Given the description of an element on the screen output the (x, y) to click on. 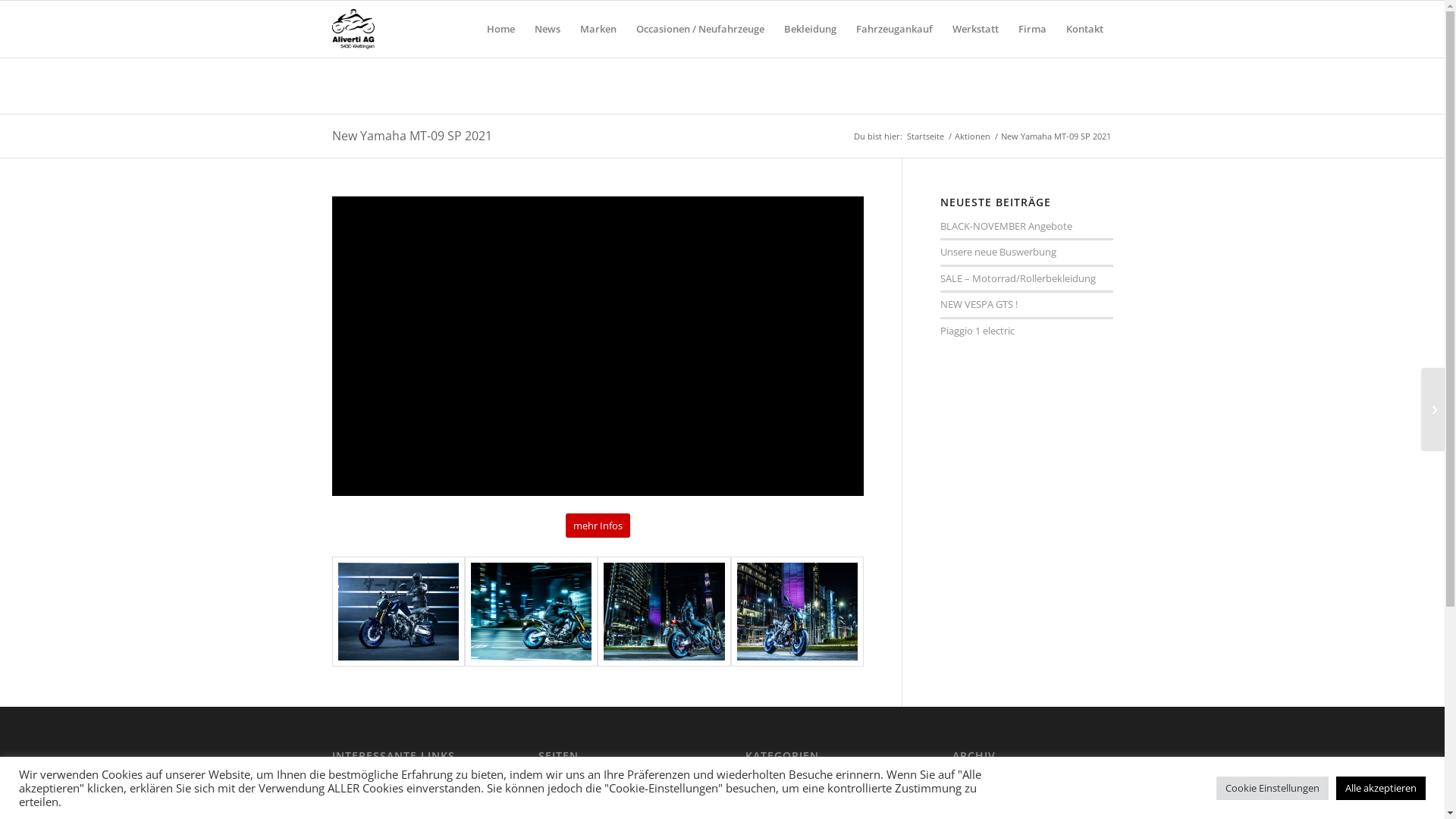
mehr Infos Element type: text (597, 525)
Bekleidung Element type: text (563, 774)
MT-09 SP 2021 (4) Element type: hover (797, 611)
Marken Element type: text (598, 28)
Fahrzeugankauf Element type: text (894, 28)
Oktober 2022 Element type: text (982, 807)
Occasionen / Neufahrzeuge Element type: text (700, 28)
Allgemein Element type: text (767, 791)
News Element type: text (547, 28)
BLACK-NOVEMBER Angebote Element type: text (1006, 225)
Cookie Einstellungen Element type: text (1272, 788)
NEW VESPA GTS ! Element type: text (978, 303)
Home Element type: text (500, 28)
Fahrzeugankauf Element type: text (574, 791)
New Yamaha MT-09 SP 2021 Element type: text (412, 135)
Dezember 2022 Element type: text (987, 791)
News Element type: text (757, 807)
November 2023 Element type: text (988, 774)
Kontakt Element type: text (1083, 28)
MT-09 SP 2021 (5) Element type: hover (398, 611)
Firma Element type: text (1032, 28)
MT-09 SP 2021 (1) Element type: hover (530, 611)
Bekleidung Element type: text (809, 28)
MT-09 SP 2021 (3) Element type: hover (663, 611)
Unsere neue Buswerbung Element type: text (998, 251)
Alle akzeptieren Element type: text (1380, 788)
Firma Element type: text (551, 807)
Piaggio 1 electric Element type: text (977, 330)
Startseite Element type: text (924, 135)
Werkstatt Element type: text (974, 28)
Aktionen Element type: text (765, 774)
Aktionen Element type: text (972, 135)
